Given the description of an element on the screen output the (x, y) to click on. 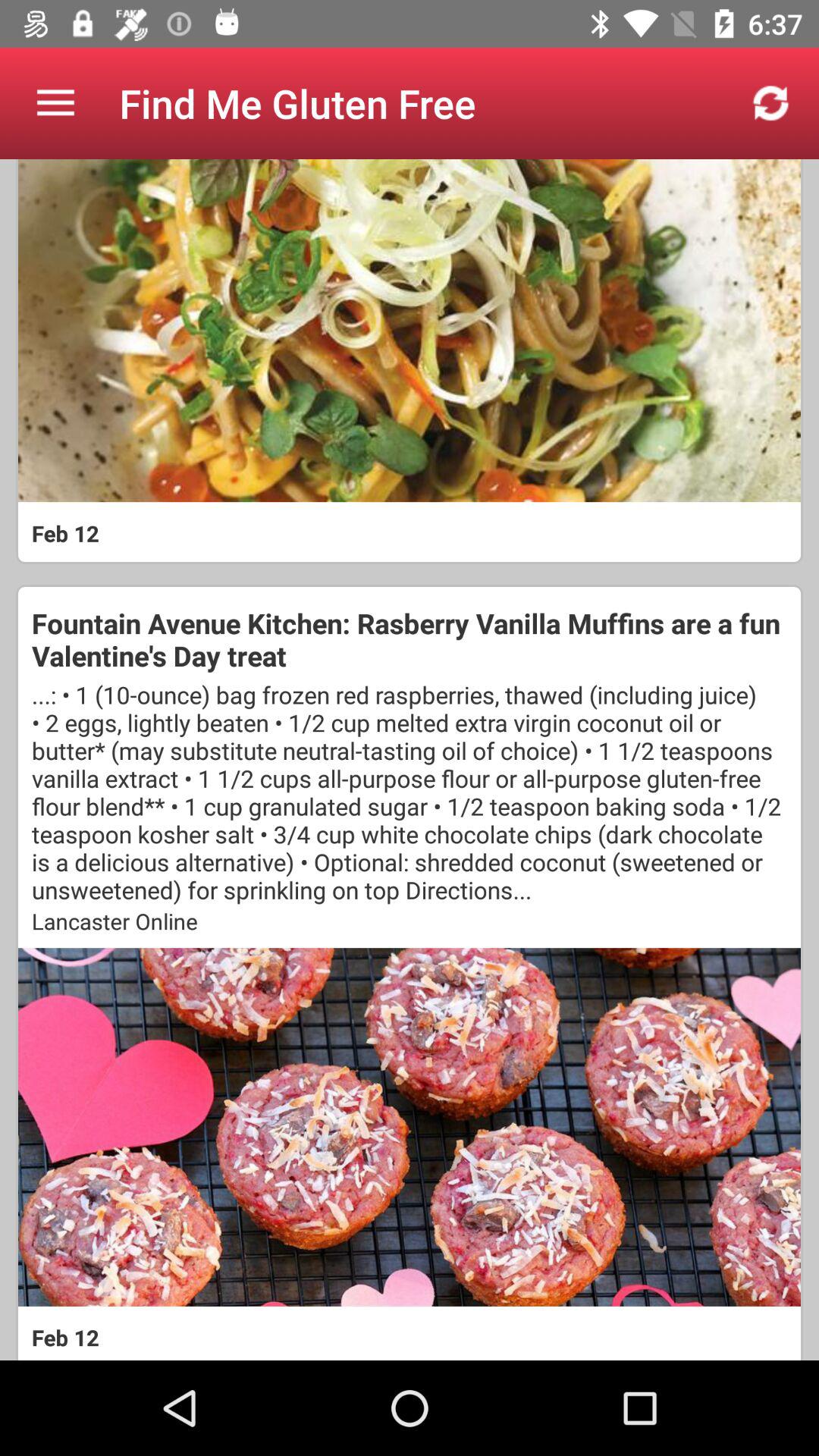
open the icon below the 1 10 ounce item (409, 921)
